Given the description of an element on the screen output the (x, y) to click on. 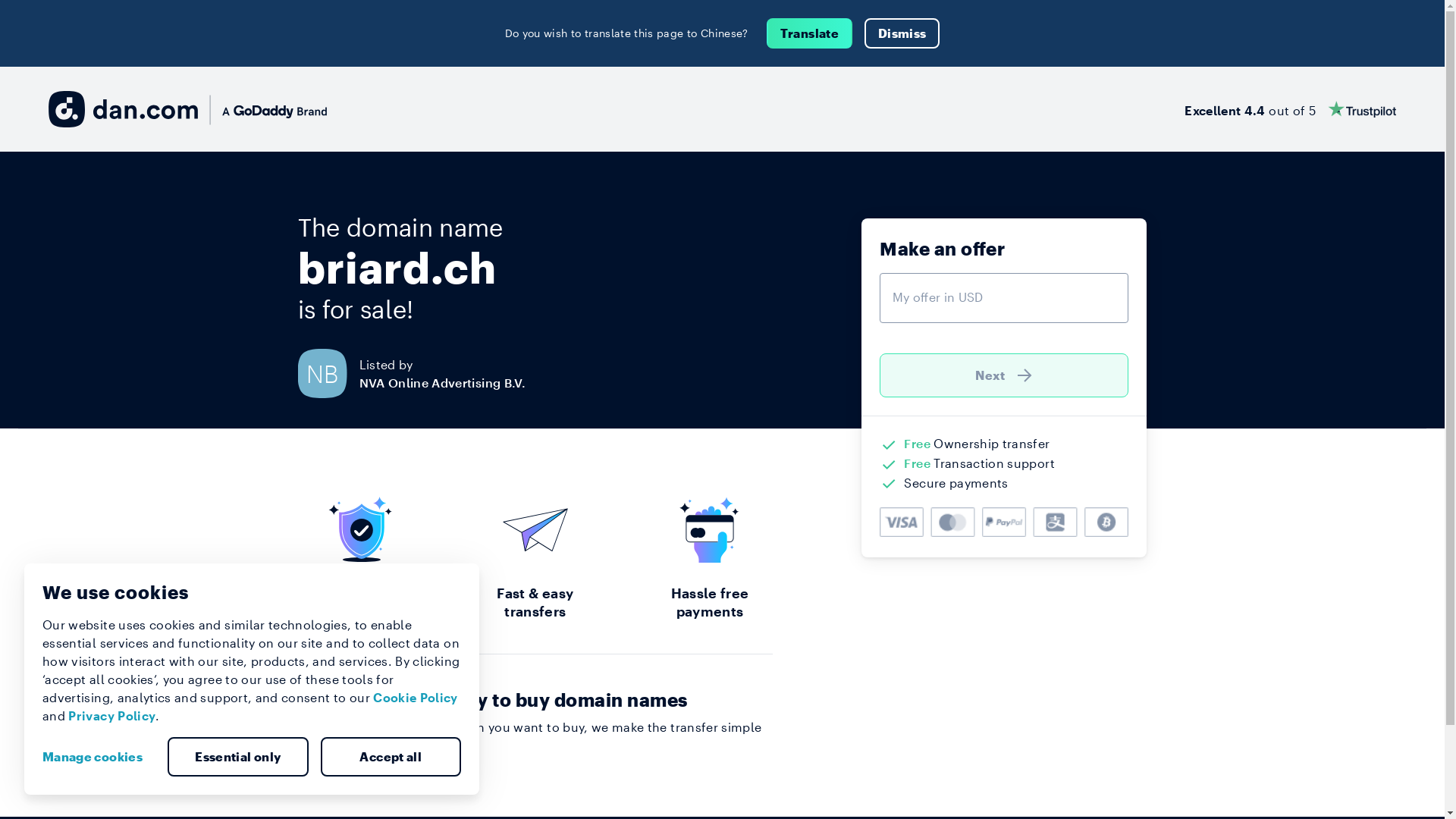
Essential only Element type: text (237, 756)
Excellent 4.4 out of 5 Element type: text (1290, 109)
Accept all Element type: text (390, 756)
Manage cookies Element type: text (98, 756)
Dismiss Element type: text (901, 33)
Cookie Policy Element type: text (415, 697)
Privacy Policy Element type: text (111, 715)
Translate Element type: text (809, 33)
Next
) Element type: text (1003, 375)
